Given the description of an element on the screen output the (x, y) to click on. 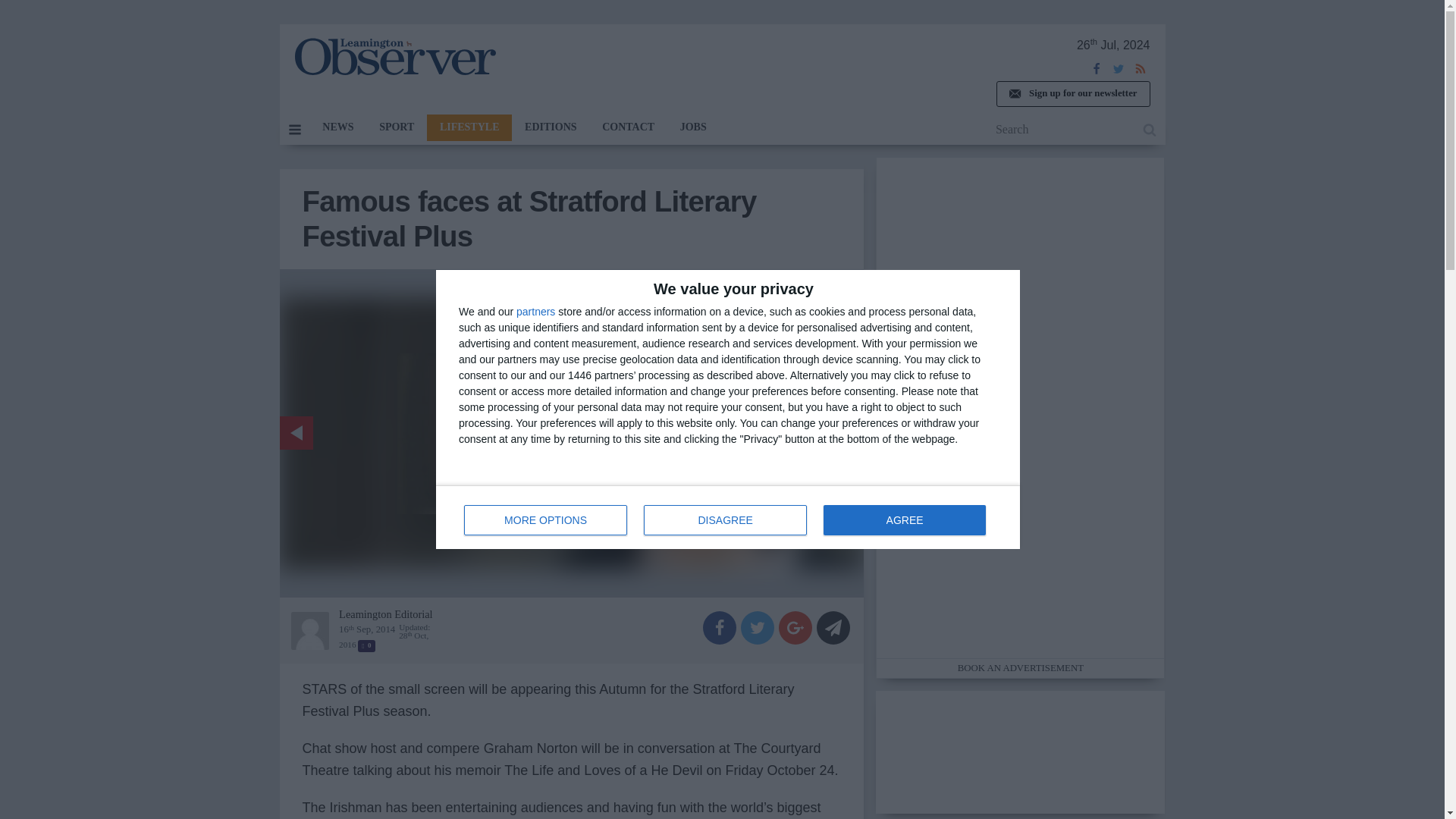
SPORT (396, 127)
MORE OPTIONS (545, 520)
LIFESTYLE (469, 127)
NEWS (337, 127)
DISAGREE (724, 520)
CONTACT (627, 127)
EDITIONS (550, 127)
  Sign up for our newsletter (727, 516)
The Leamington Observer (1072, 94)
partners (394, 55)
AGREE (535, 311)
